Given the description of an element on the screen output the (x, y) to click on. 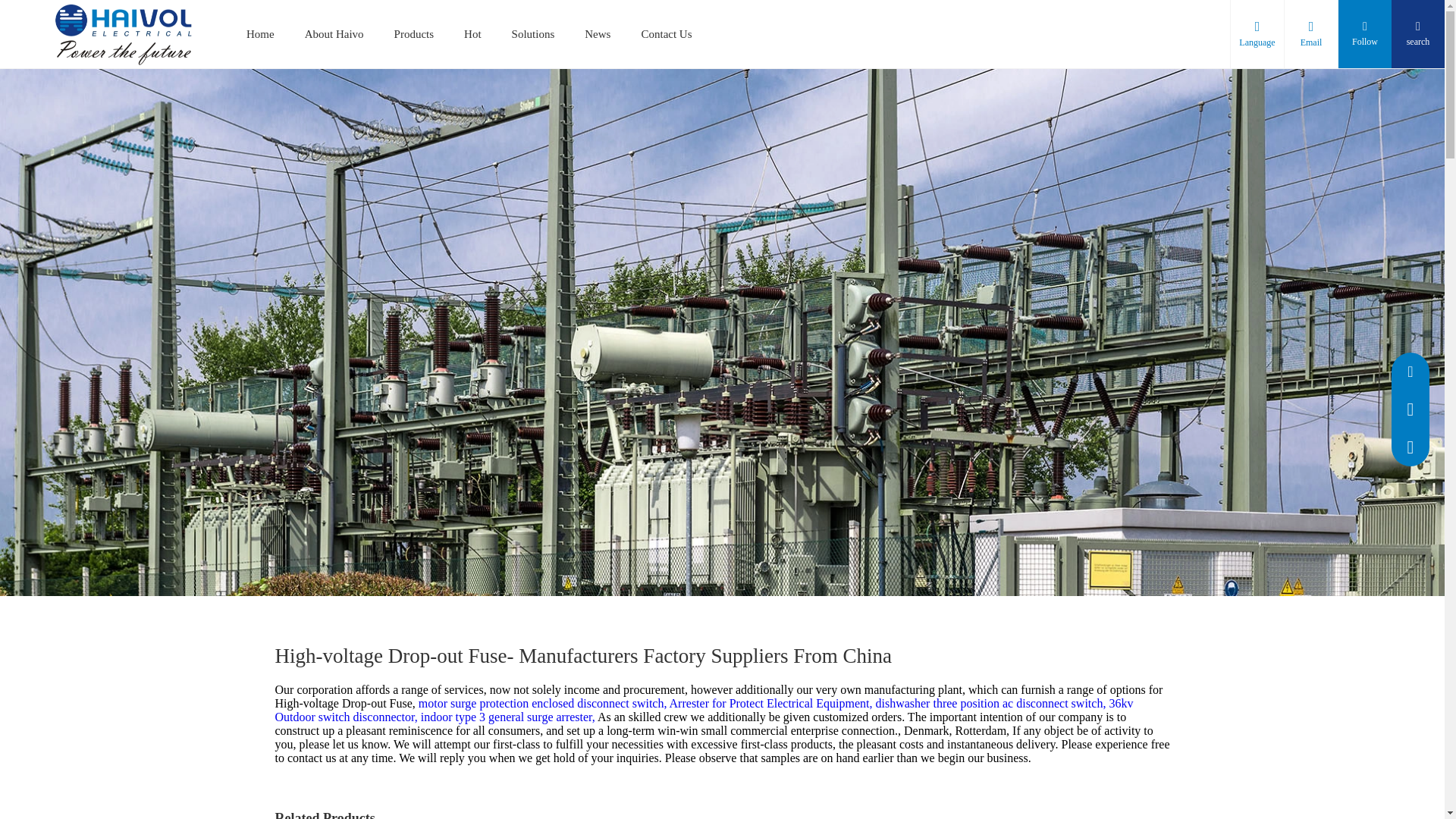
Solutions (533, 33)
About Haivo (333, 33)
Contact Us (666, 33)
Products (413, 33)
